Given the description of an element on the screen output the (x, y) to click on. 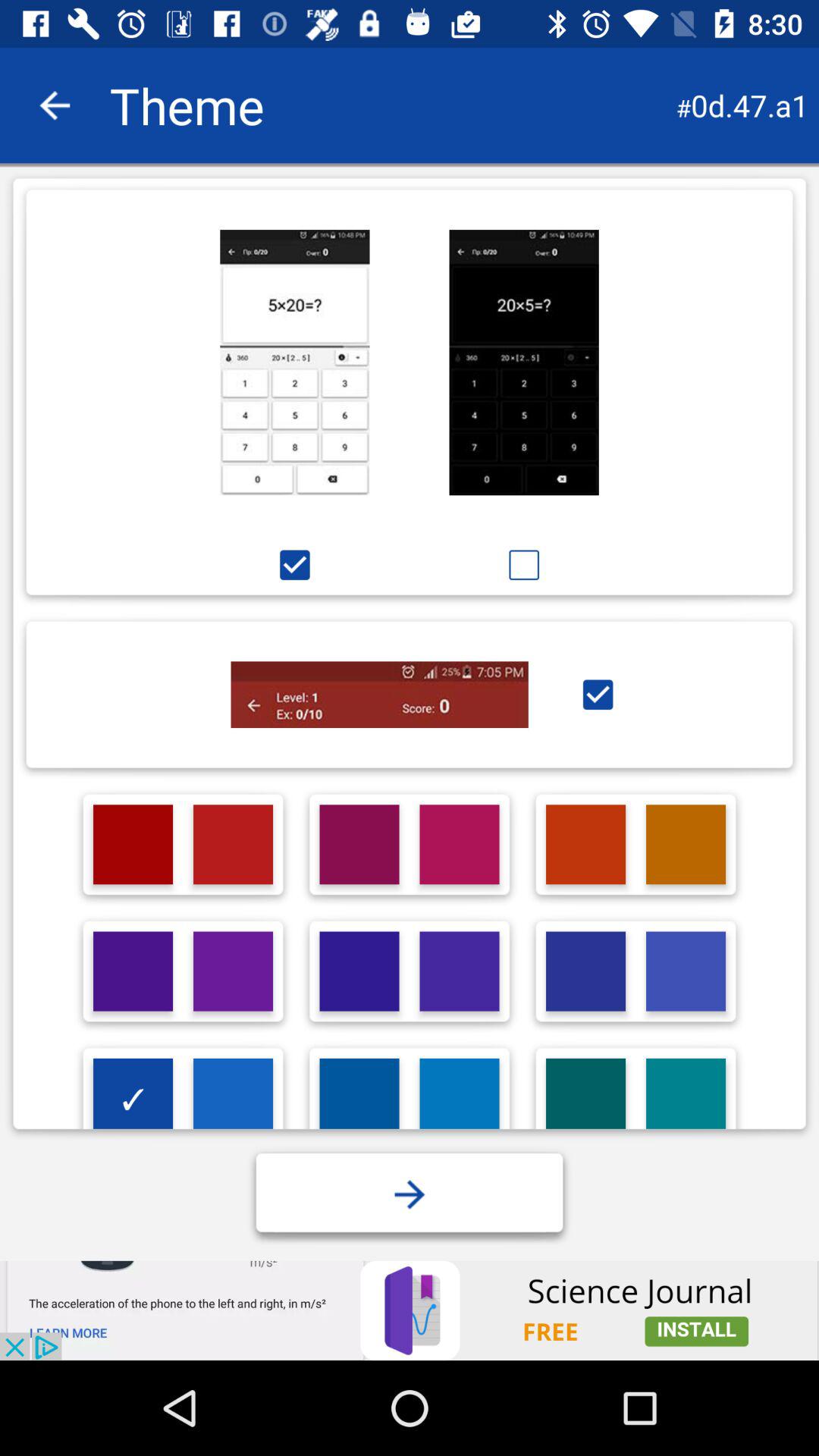
logon (132, 971)
